Given the description of an element on the screen output the (x, y) to click on. 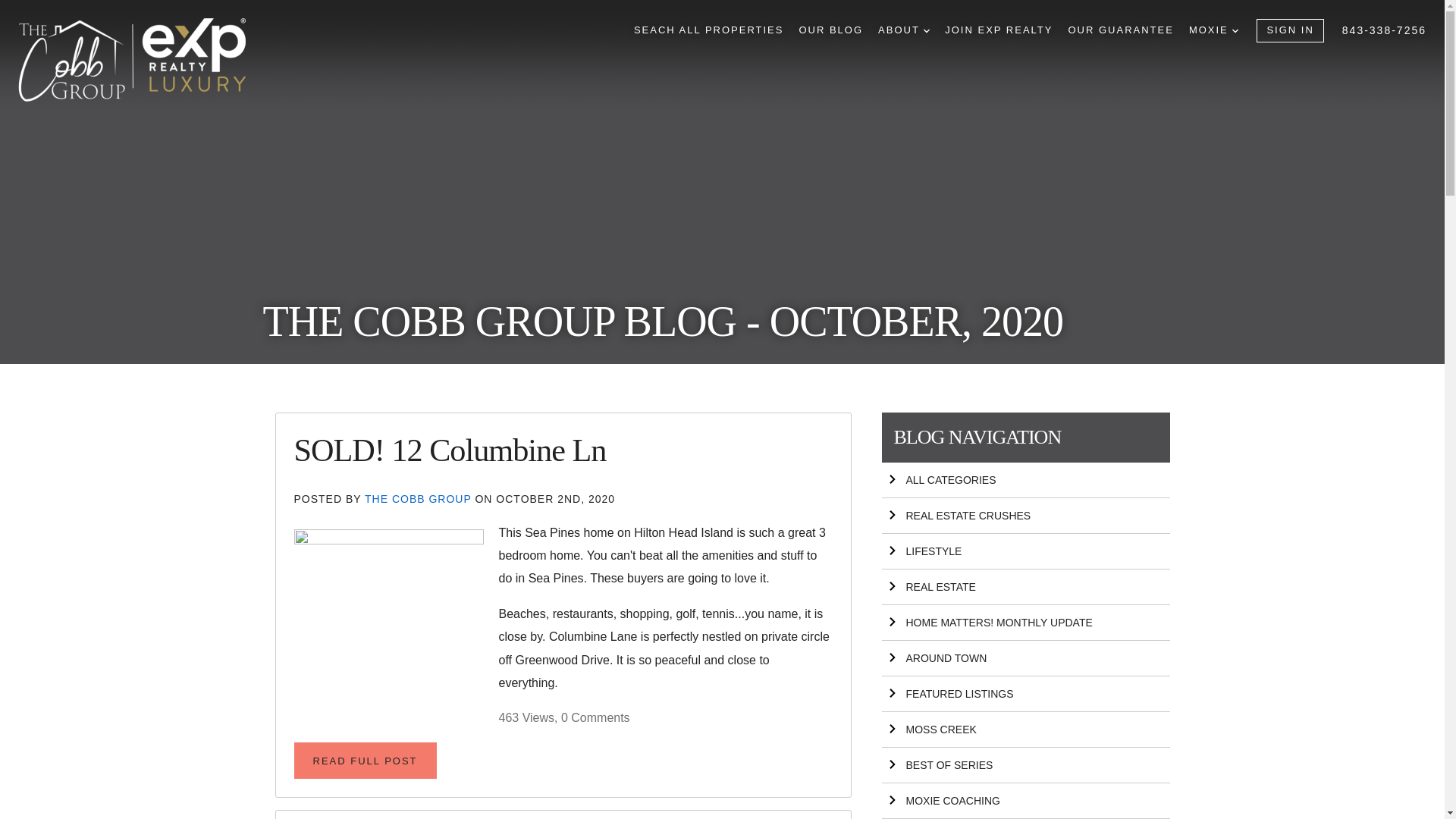
READ FULL POST (365, 760)
JOIN EXP REALTY (998, 30)
ABOUT DROPDOWN ARROW (903, 30)
MOXIE DROPDOWN ARROW (1214, 30)
SEACH ALL PROPERTIES (708, 30)
DROPDOWN ARROW (926, 30)
OUR BLOG (830, 30)
DROPDOWN ARROW (1235, 30)
THE COBB GROUP (419, 499)
SIGN IN (1289, 30)
